Given the description of an element on the screen output the (x, y) to click on. 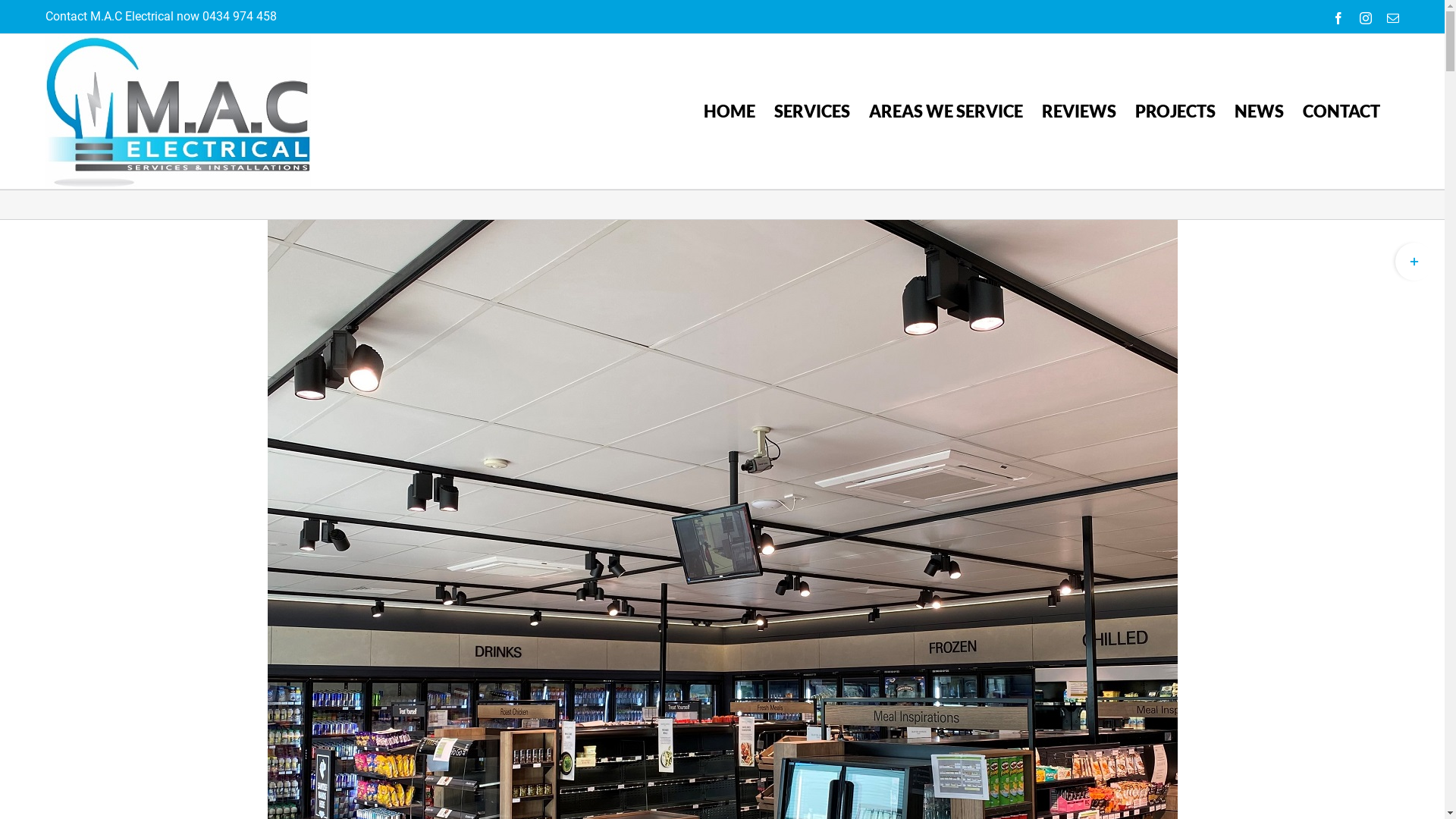
NEWS Element type: text (1258, 111)
SERVICES Element type: text (812, 111)
Instagram Element type: text (1365, 18)
HOME Element type: text (729, 111)
Email Element type: text (1392, 18)
CONTACT Element type: text (1341, 111)
REVIEWS Element type: text (1078, 111)
Toggle Sliding Bar Area Element type: text (1414, 261)
Facebook Element type: text (1338, 18)
PROJECTS Element type: text (1175, 111)
AREAS WE SERVICE Element type: text (945, 111)
